Given the description of an element on the screen output the (x, y) to click on. 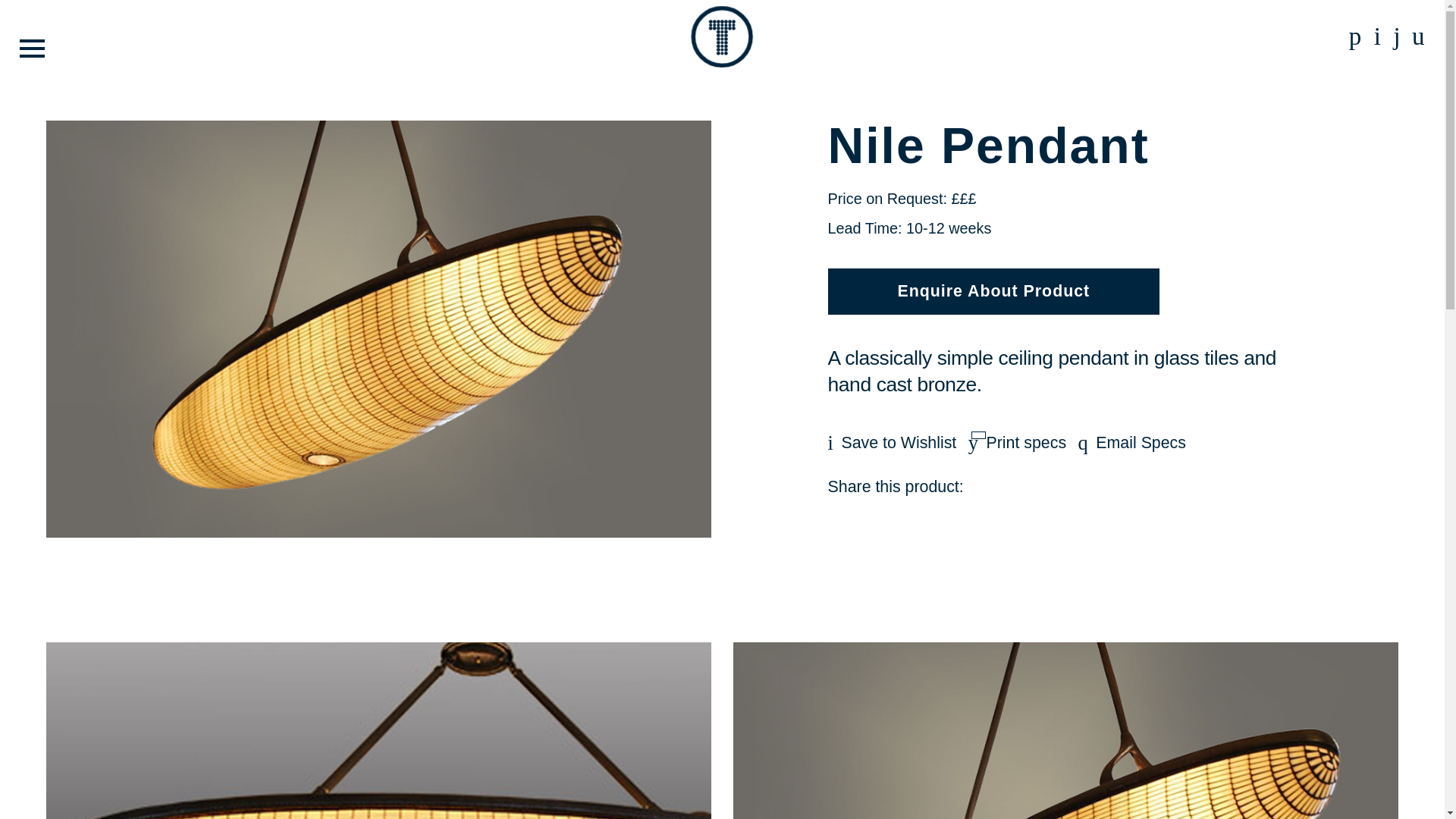
Save to Wishlist (892, 443)
Print specs (1016, 443)
Submit Enquiry (976, 548)
Email Specs (1132, 443)
